Given the description of an element on the screen output the (x, y) to click on. 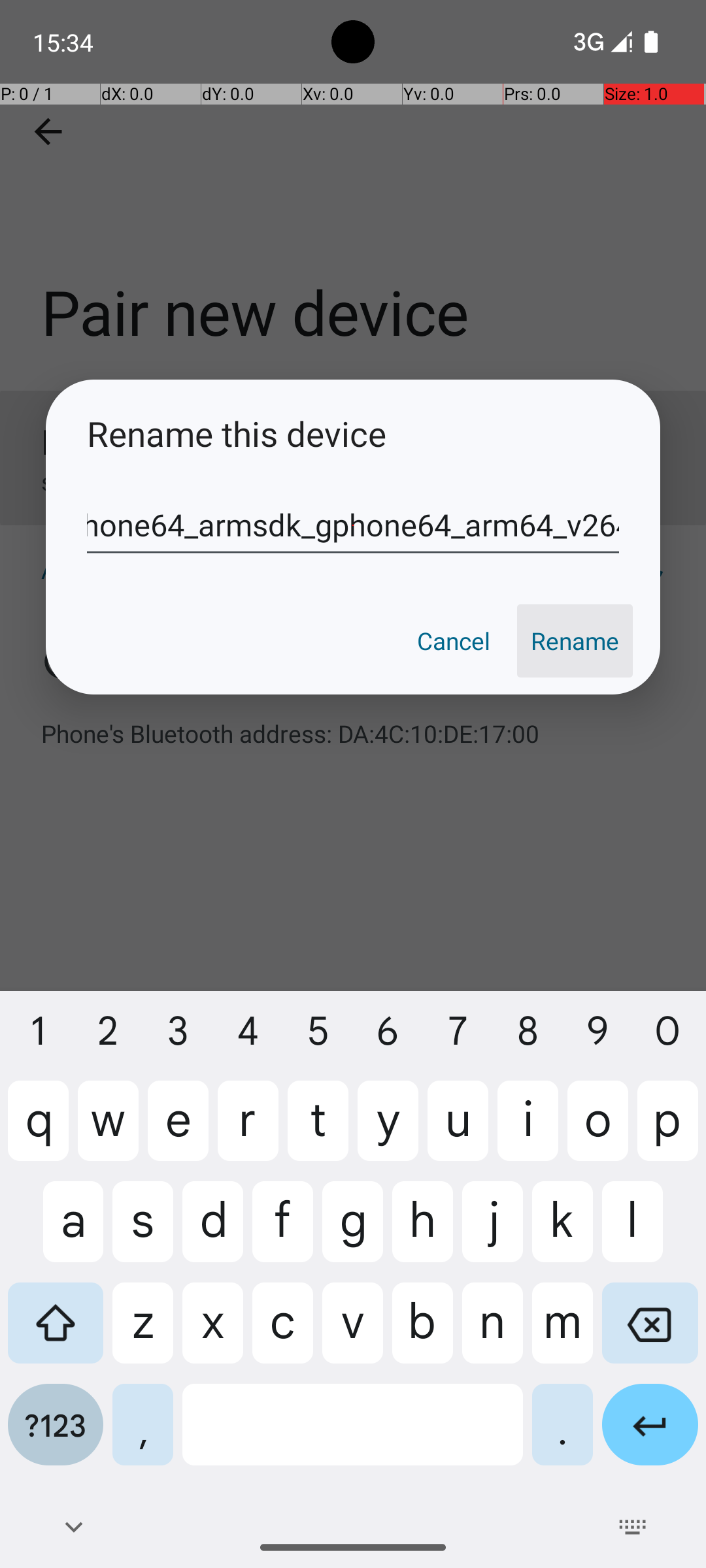
Rename this device Element type: android.widget.TextView (352, 433)
sdk_gphone64_armsdk_gphone64_arm64_v264 Element type: android.widget.EditText (352, 525)
